Given the description of an element on the screen output the (x, y) to click on. 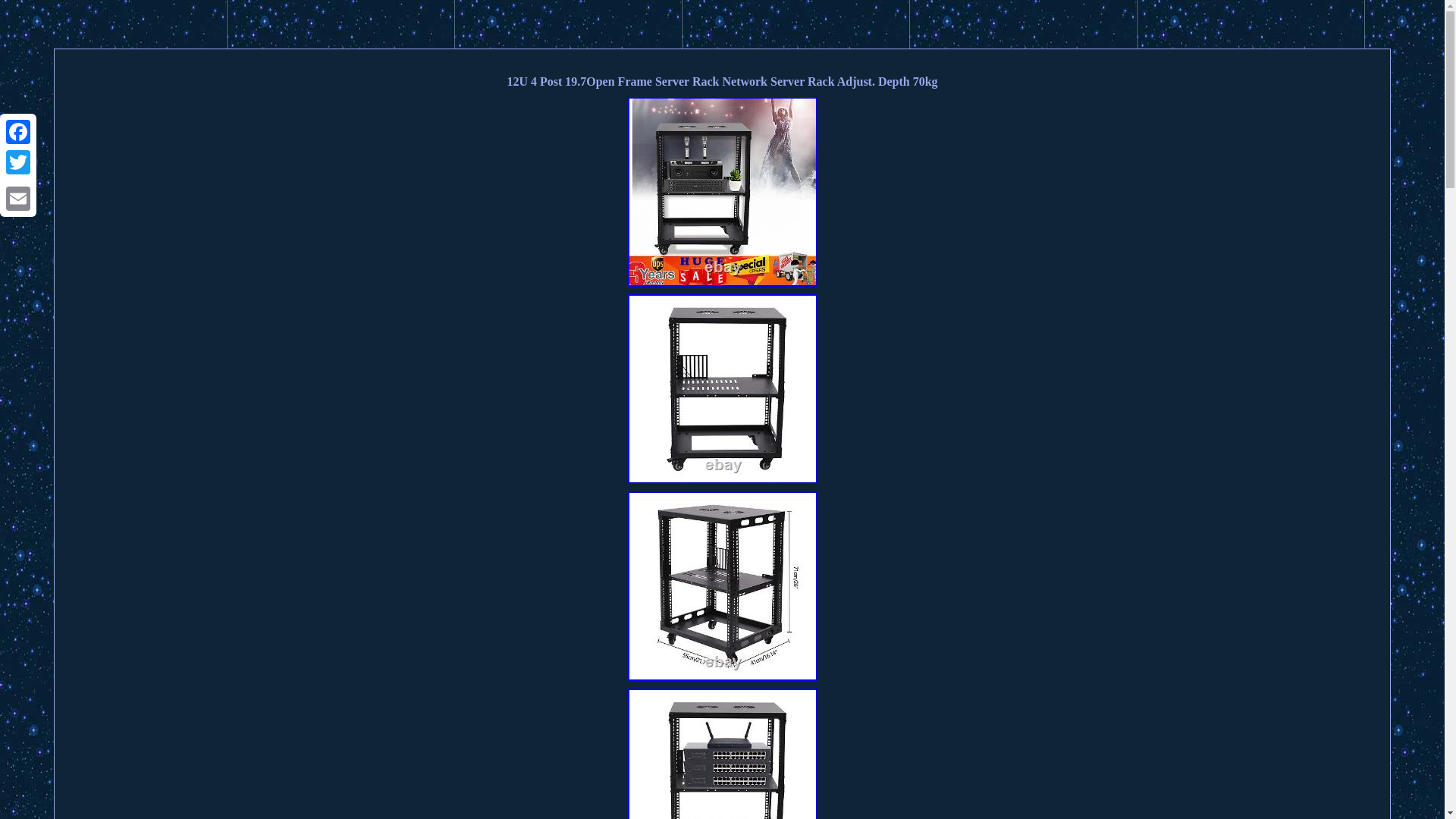
Email (17, 198)
Twitter (17, 162)
Facebook (17, 132)
